Given the description of an element on the screen output the (x, y) to click on. 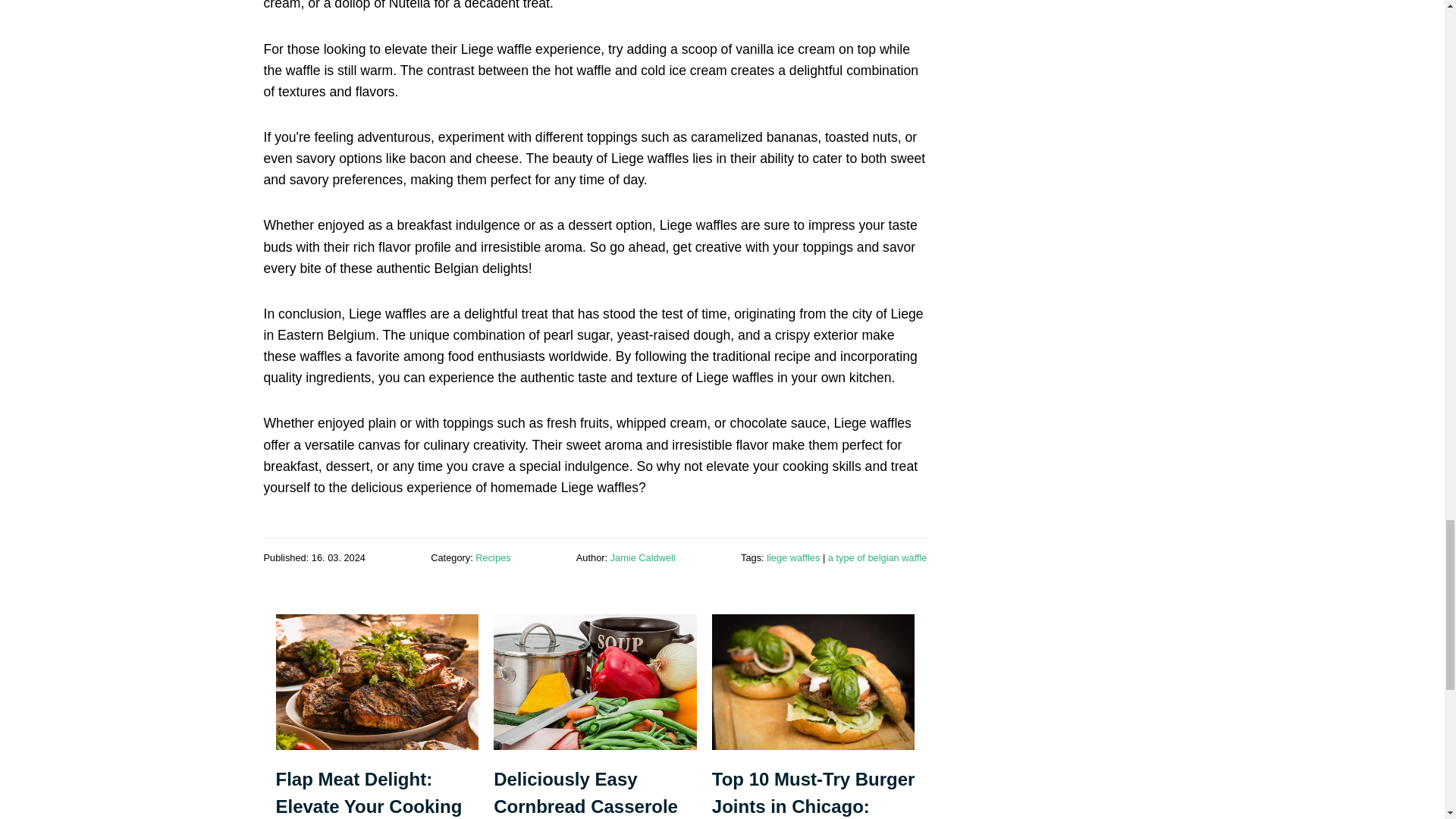
Jamie Caldwell (642, 557)
a type of belgian waffle (877, 557)
liege waffles (793, 557)
Recipes (493, 557)
